Given the description of an element on the screen output the (x, y) to click on. 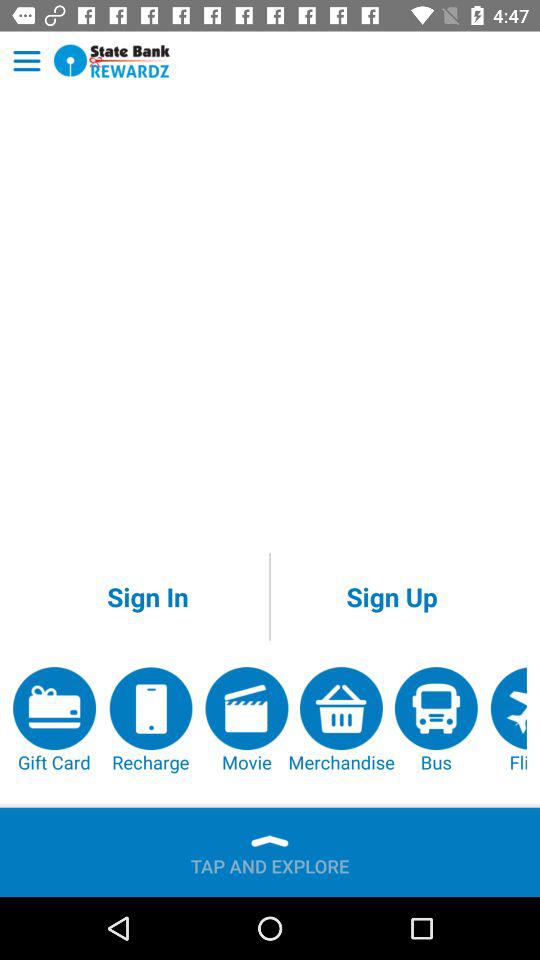
tap the item above the tap and explore icon (341, 720)
